Given the description of an element on the screen output the (x, y) to click on. 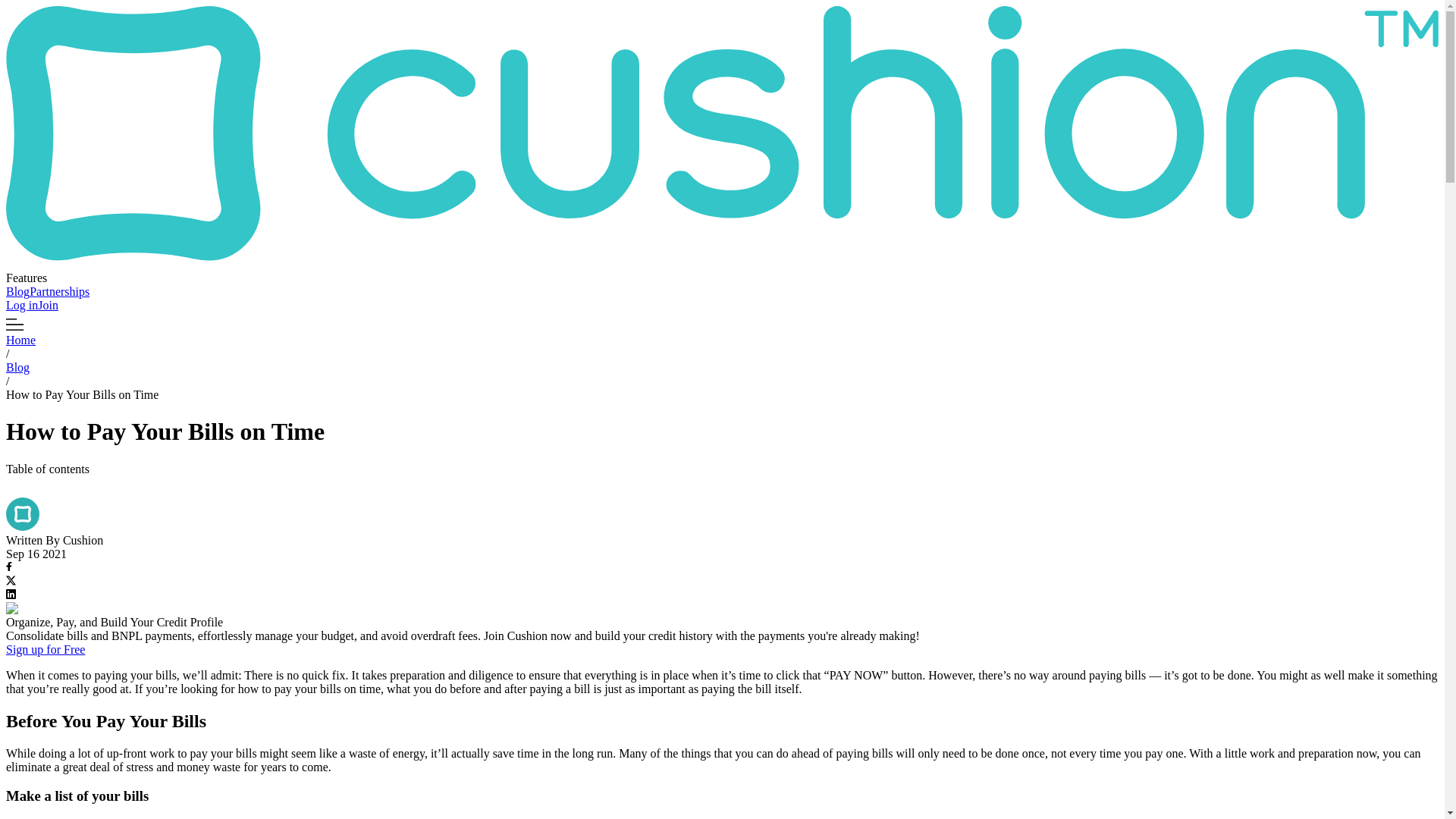
Sign up for Free (44, 649)
Blog (17, 291)
Join (47, 305)
Partnerships (58, 291)
Home (19, 339)
Log in (21, 305)
Blog (17, 367)
